Given the description of an element on the screen output the (x, y) to click on. 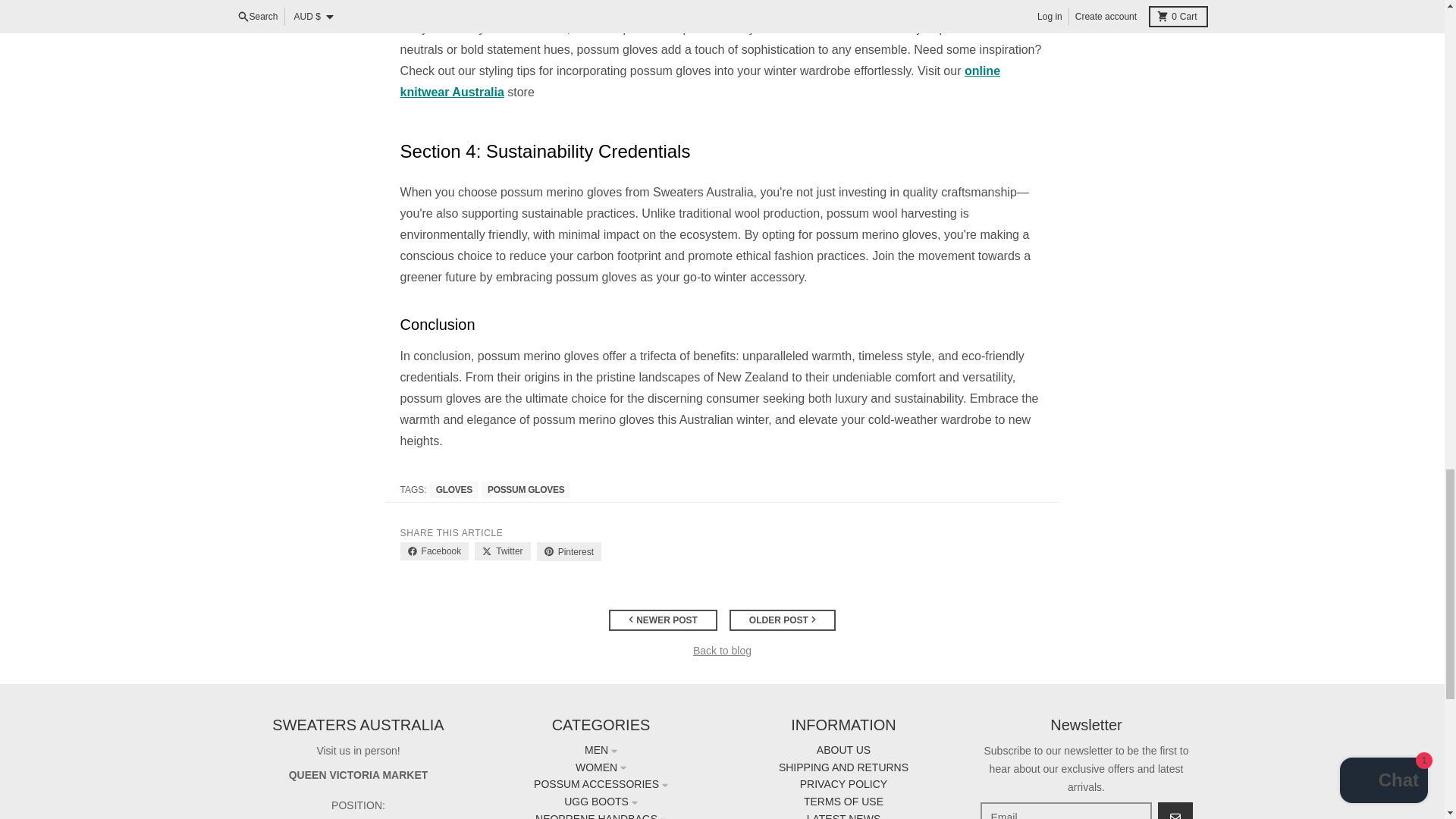
Online Knitwear Australia (700, 81)
